Given the description of an element on the screen output the (x, y) to click on. 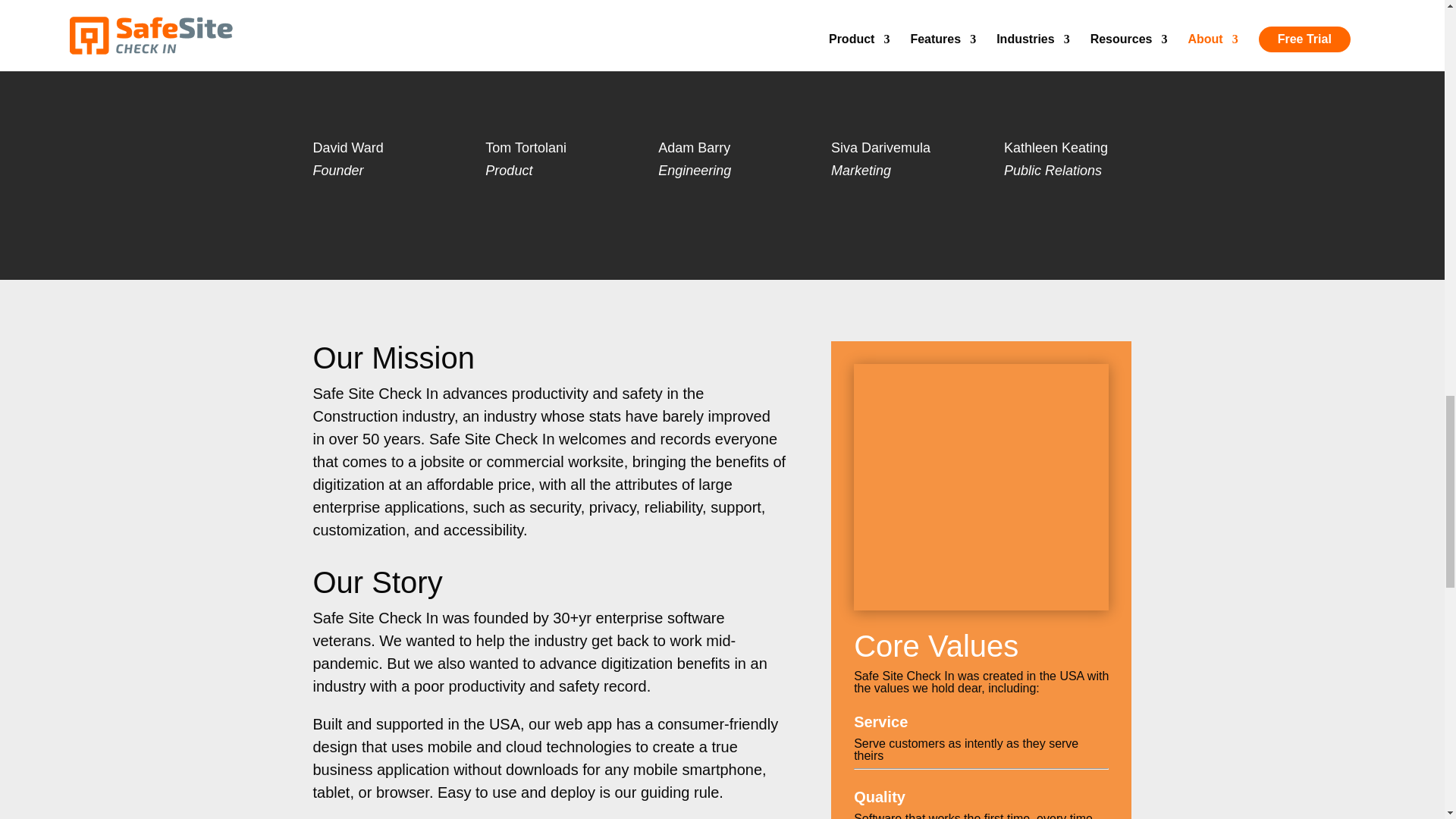
About Contactless Sign In App (980, 482)
